Given the description of an element on the screen output the (x, y) to click on. 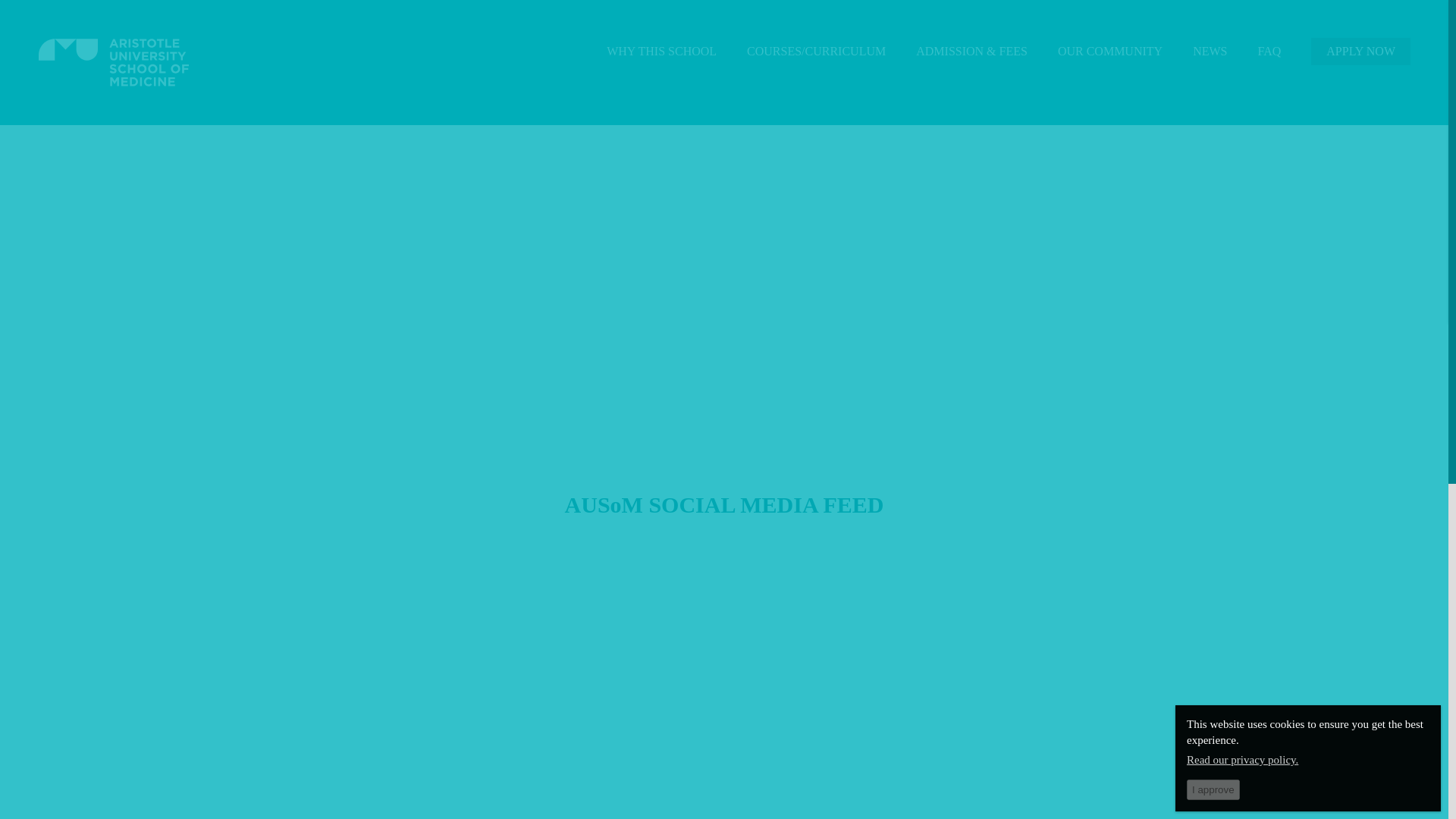
OUR COMMUNITY (1109, 51)
NEWS (1209, 51)
APPLY NOW (1360, 51)
WHY THIS SCHOOL (661, 51)
